Given the description of an element on the screen output the (x, y) to click on. 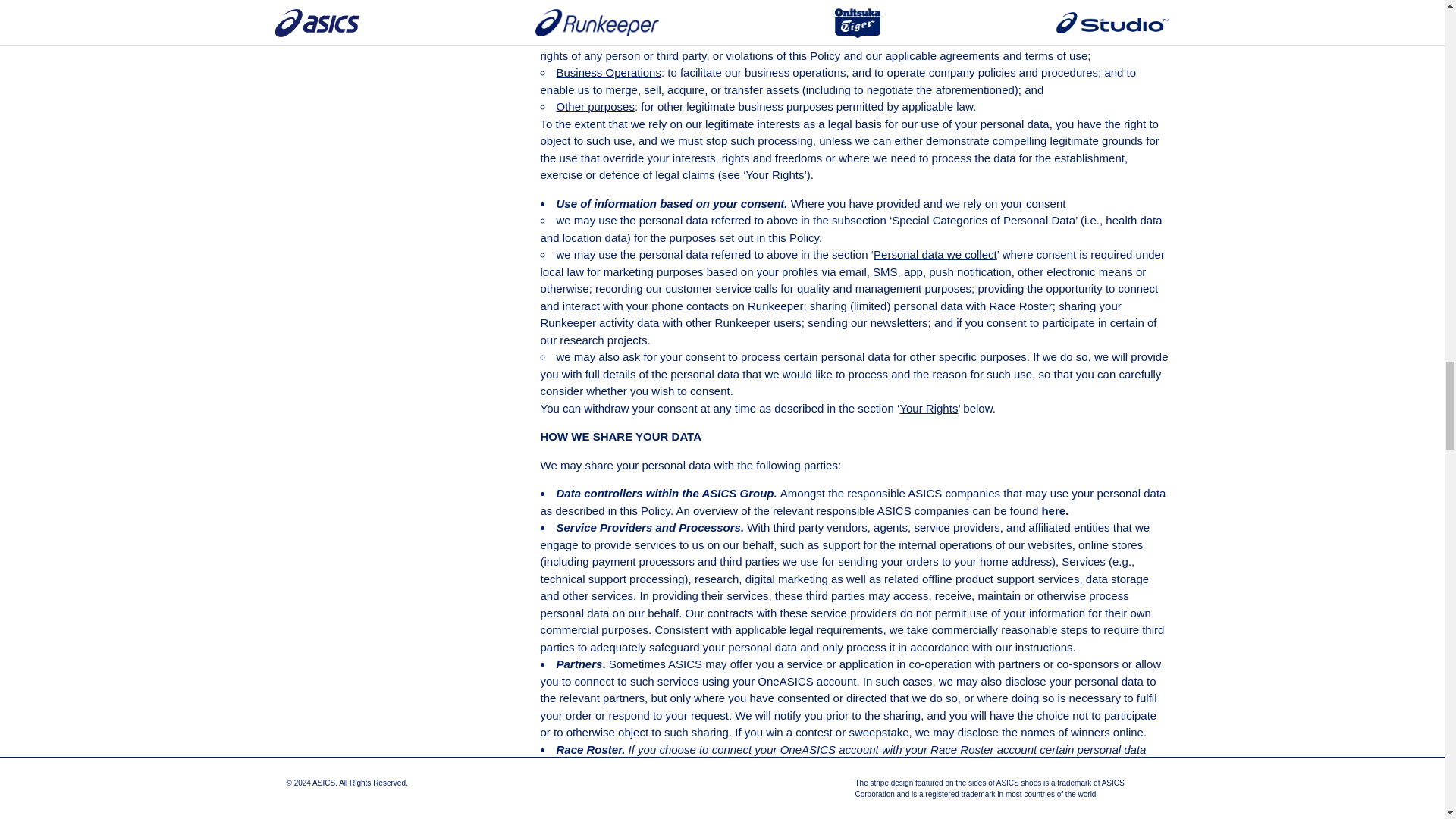
here (1053, 509)
privacy policy (1058, 799)
